Given the description of an element on the screen output the (x, y) to click on. 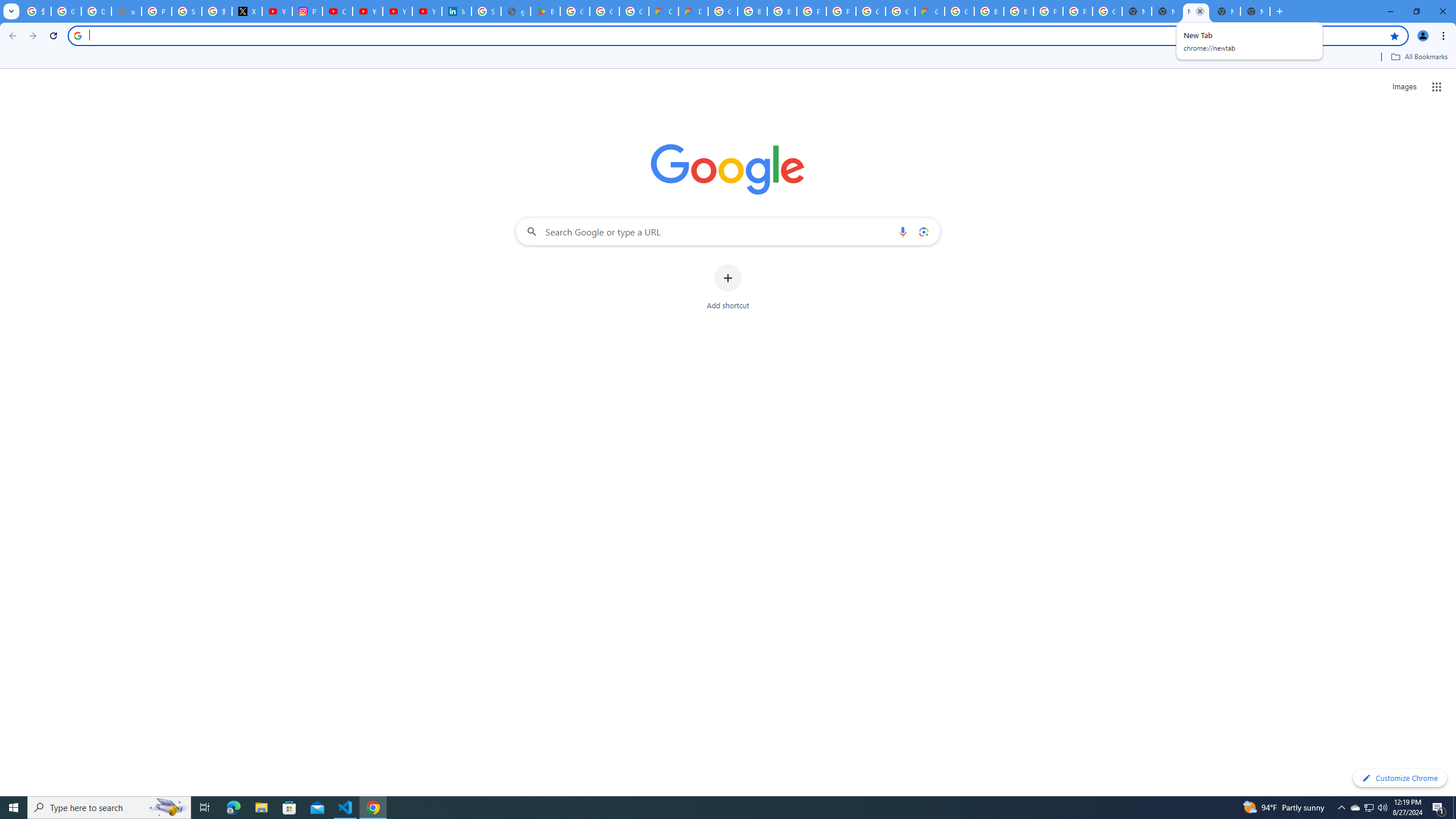
support.google.com - Network error (126, 11)
google_privacy_policy_en.pdf (515, 11)
Browse Chrome as a guest - Computer - Google Chrome Help (751, 11)
X (247, 11)
YouTube Culture & Trends - YouTube Top 10, 2021 (426, 11)
Google Cloud Platform (900, 11)
Google Cloud Platform (870, 11)
New Tab (1254, 11)
Google Cloud Platform (1106, 11)
